Given the description of an element on the screen output the (x, y) to click on. 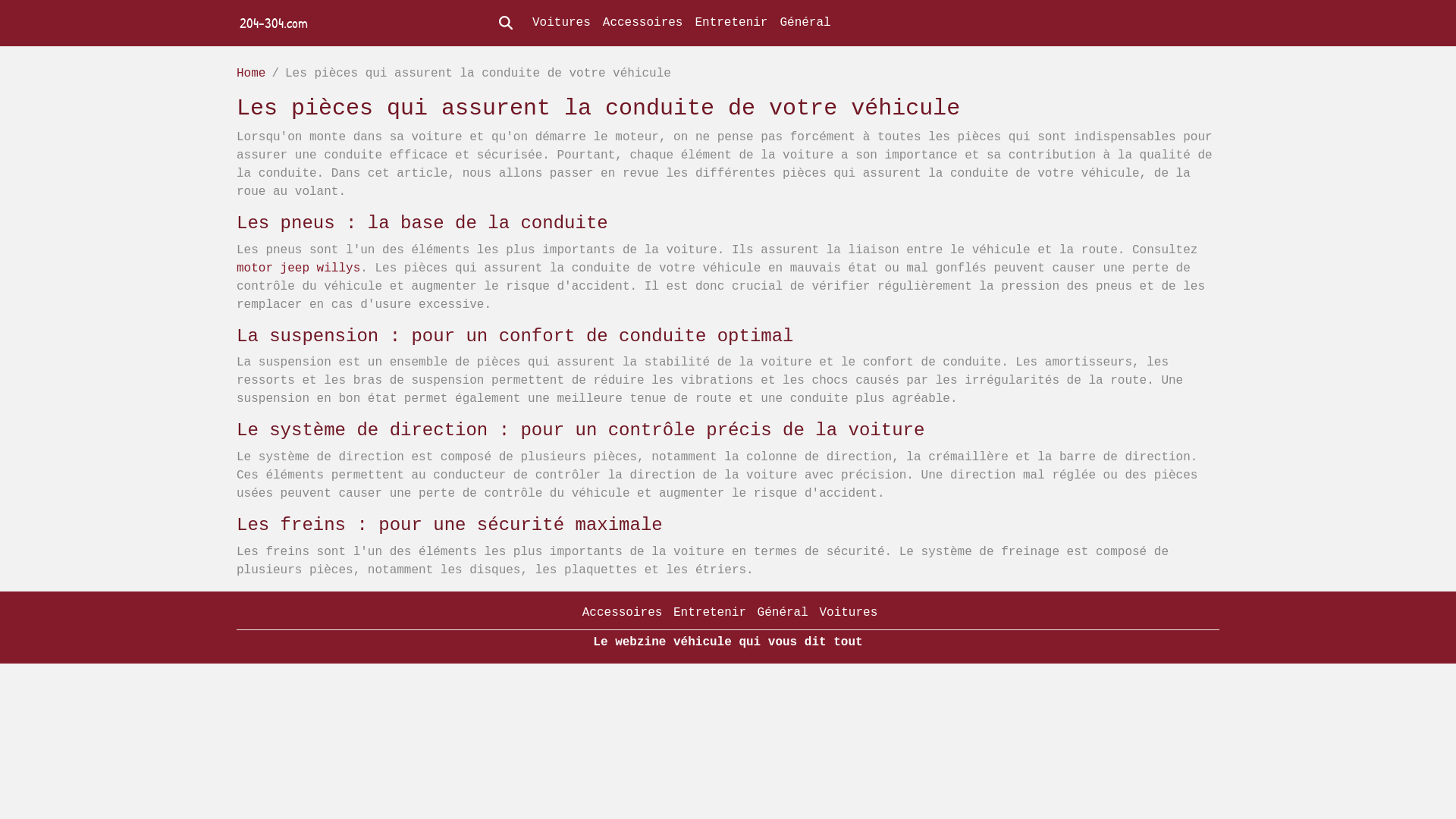
Entretenir Element type: text (709, 612)
204-304.com Element type: text (273, 22)
motor jeep willys Element type: text (298, 268)
Accessoires Element type: text (642, 22)
Voitures Element type: text (561, 22)
Entretenir Element type: text (730, 22)
Home Element type: text (250, 73)
Accessoires Element type: text (622, 612)
Voitures Element type: text (848, 612)
